Given the description of an element on the screen output the (x, y) to click on. 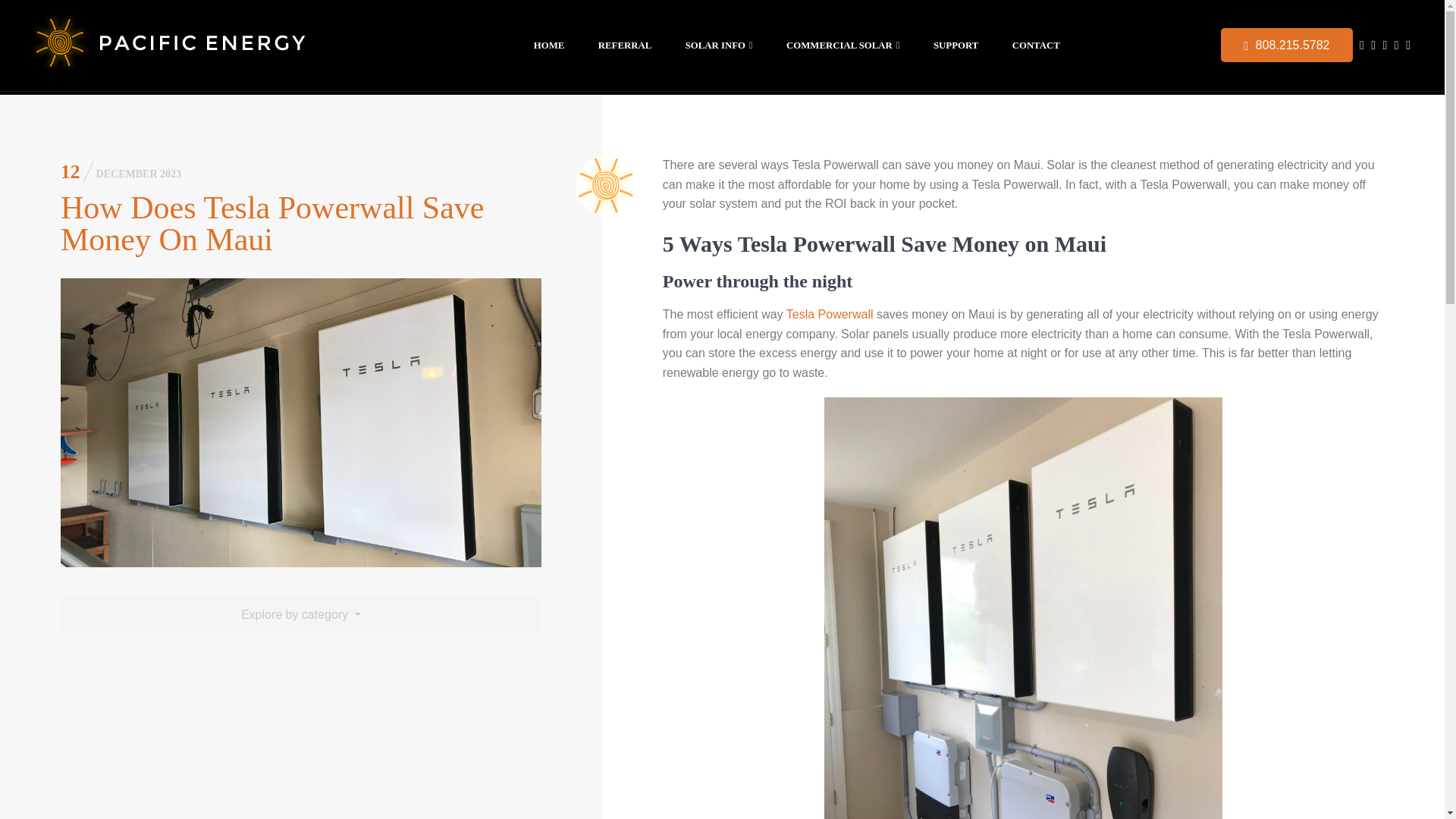
SOLAR INFO (719, 45)
REFERRAL (625, 45)
Maui Solar PV (202, 45)
HOME (548, 45)
